Given the description of an element on the screen output the (x, y) to click on. 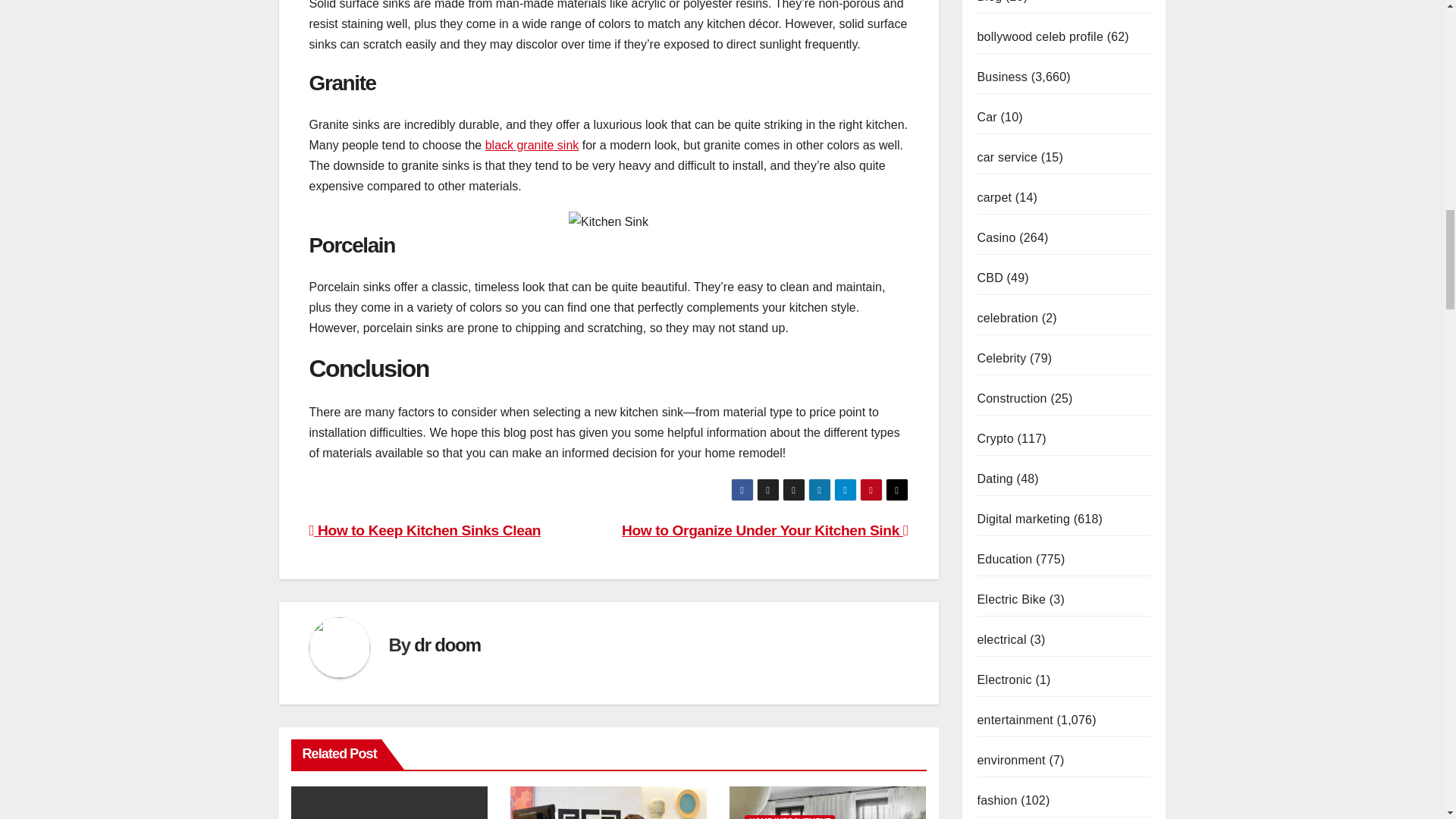
How to Keep Kitchen Sinks Clean (424, 530)
black granite sink (531, 144)
How to Organize Under Your Kitchen Sink (764, 530)
dr doom (446, 643)
